Given the description of an element on the screen output the (x, y) to click on. 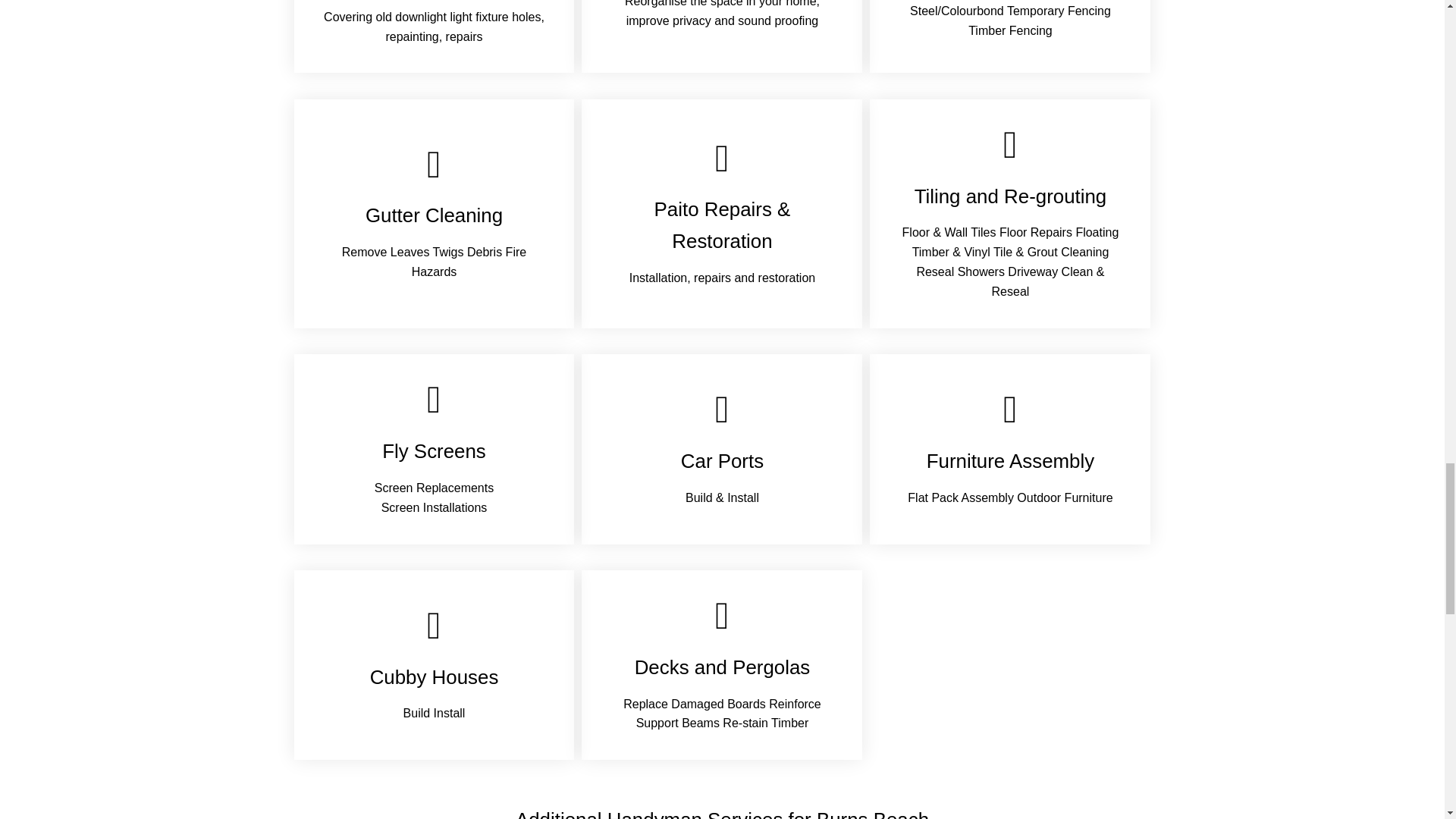
Gutter Cleaning (433, 215)
